Given the description of an element on the screen output the (x, y) to click on. 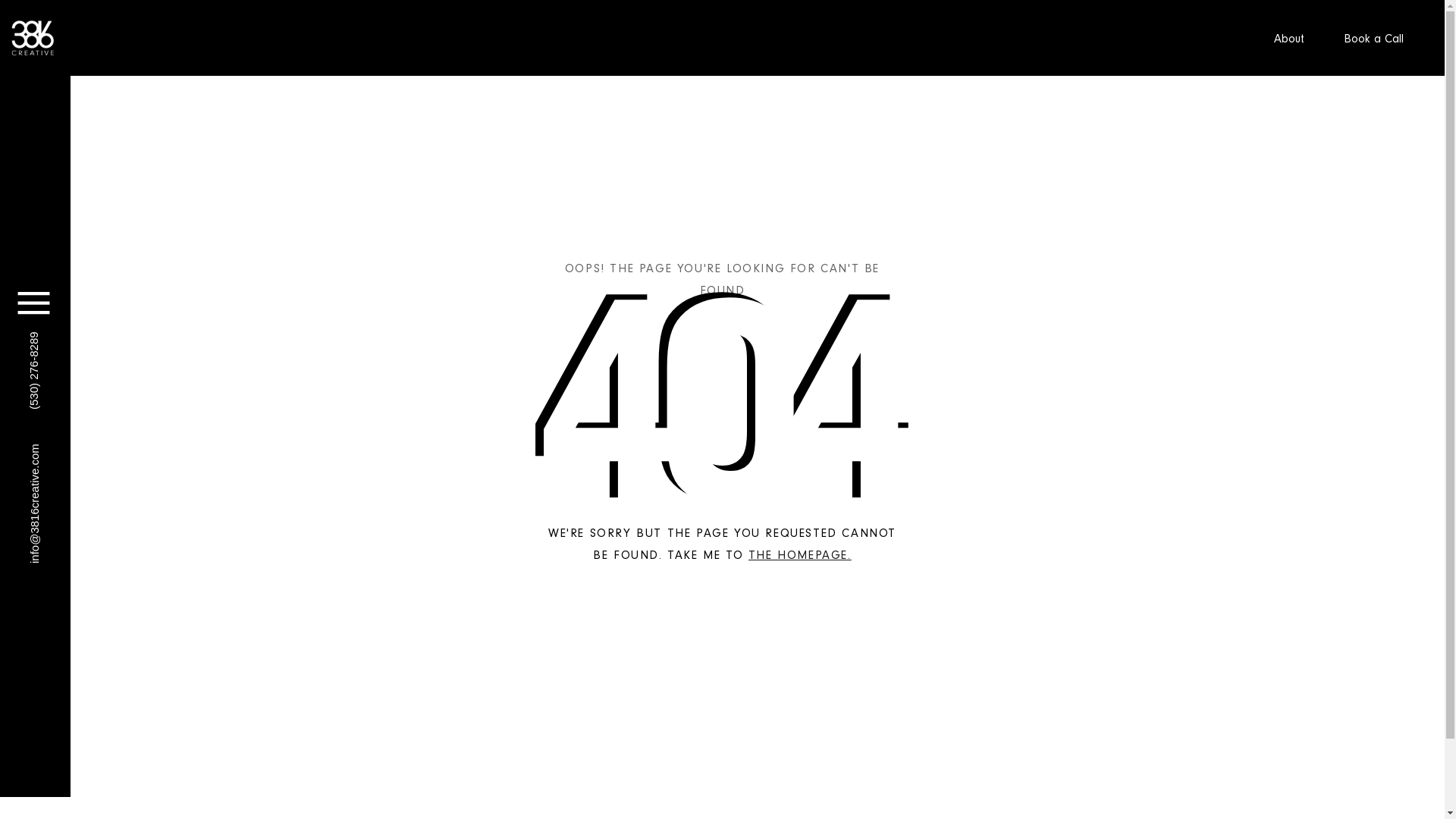
THE HOMEPAGE. Element type: text (799, 554)
About Element type: text (1293, 37)
info@3816creative.com Element type: text (89, 442)
Book a Call Element type: text (1379, 37)
